Given the description of an element on the screen output the (x, y) to click on. 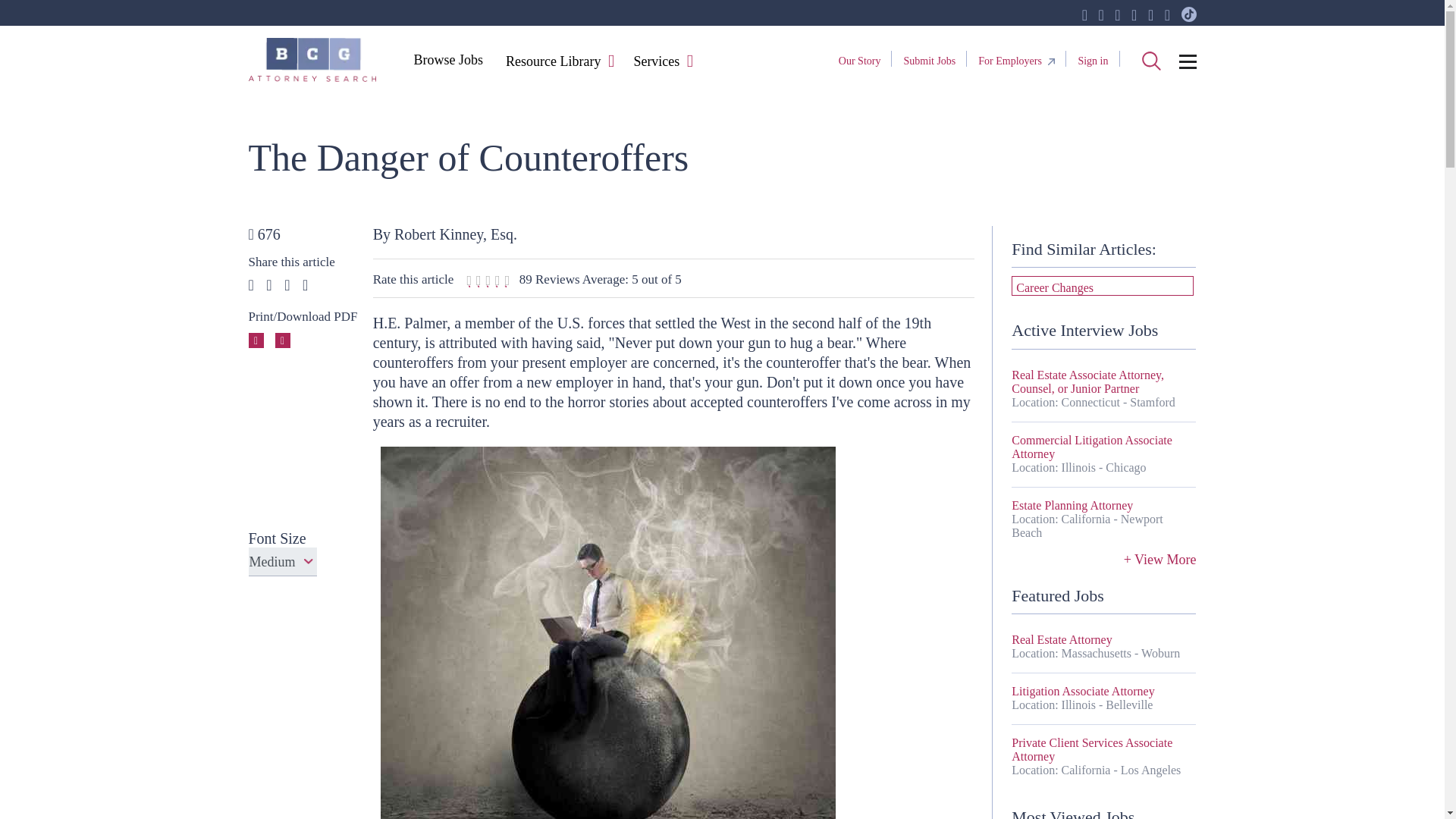
Print (255, 339)
BCG Attorney Search Tiktok (1188, 14)
Resource Library (553, 62)
Services (655, 62)
Browse Jobs (448, 59)
Download PDF (282, 339)
